Given the description of an element on the screen output the (x, y) to click on. 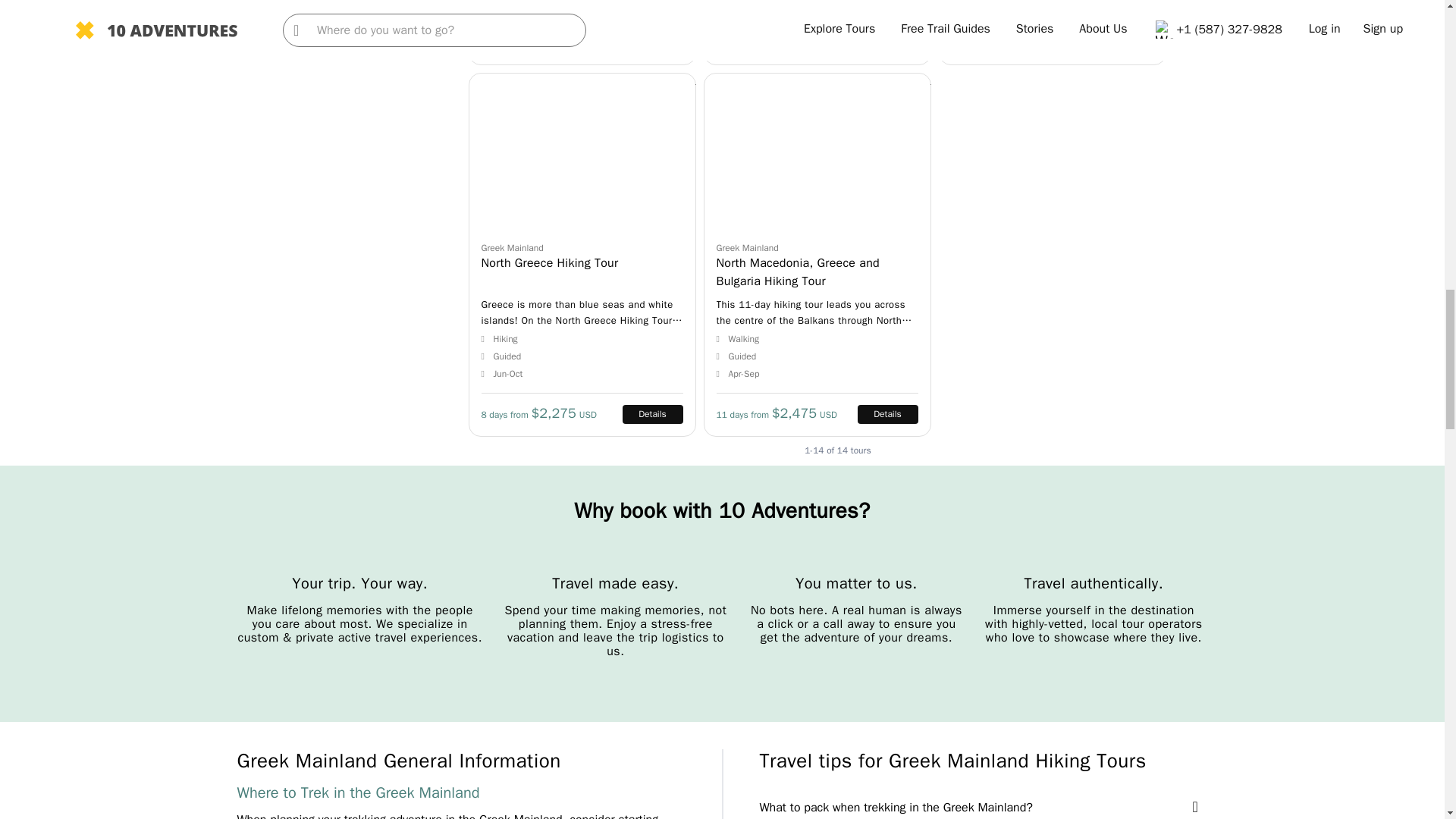
Open details for The Menalon Trail Hiking Tour (1052, 32)
Open details for Greek Mountains Adventure (817, 32)
